Given the description of an element on the screen output the (x, y) to click on. 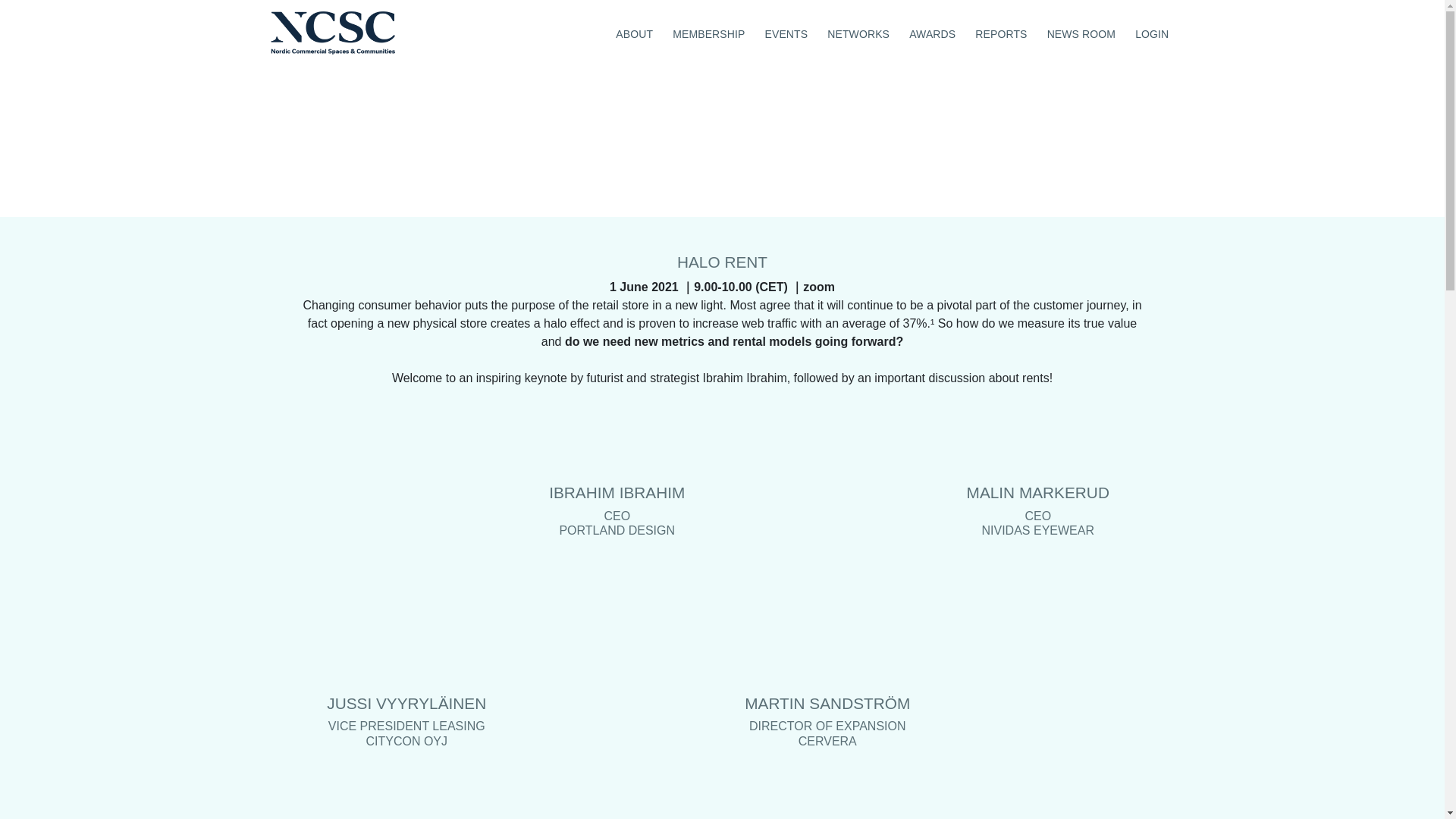
REPORTS (1001, 31)
NETWORKS (857, 31)
AWARDS (932, 31)
NEWS ROOM (1080, 31)
EVENTS (786, 31)
MEMBERSHIP (708, 31)
